Given the description of an element on the screen output the (x, y) to click on. 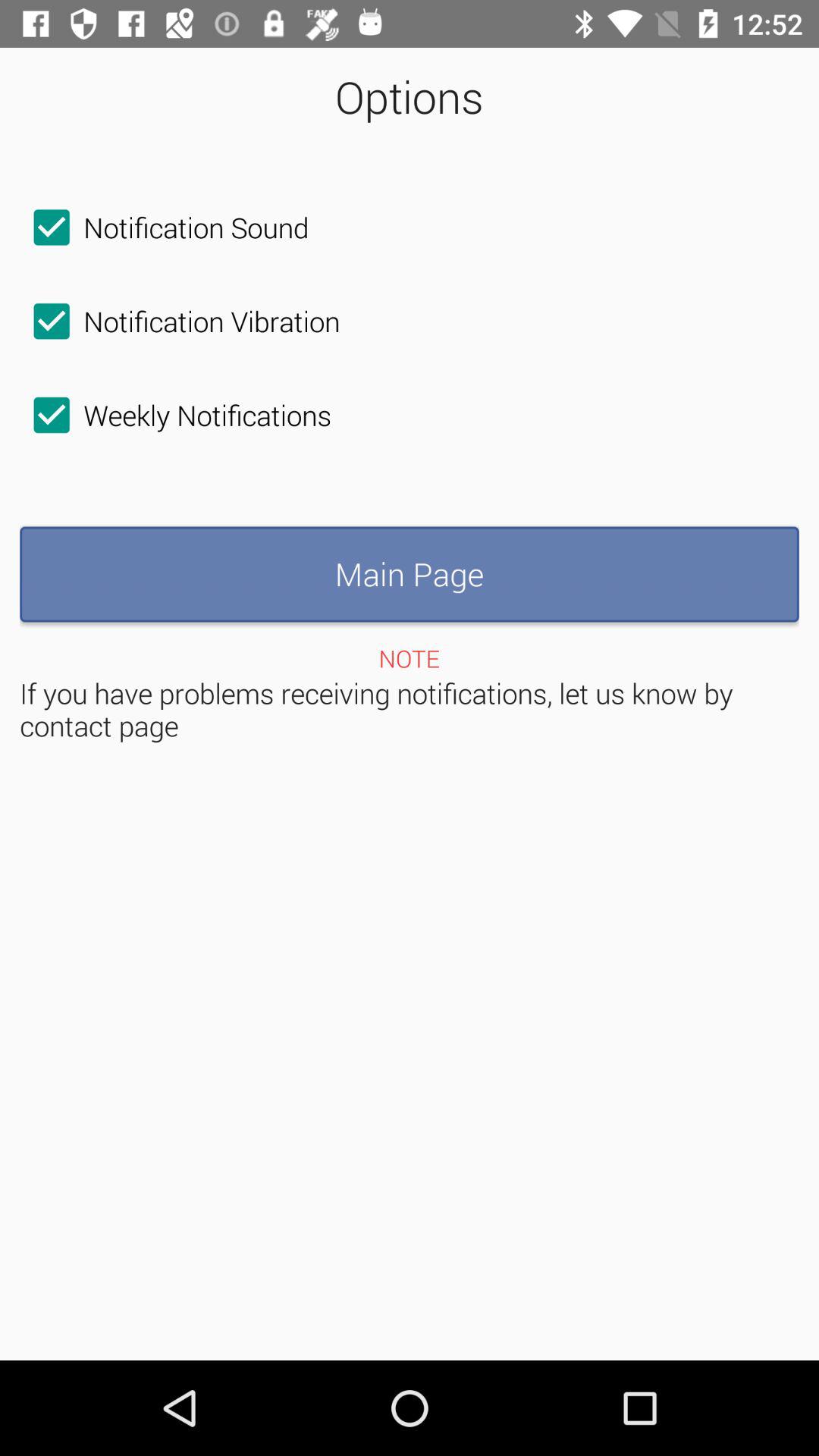
turn on the checkbox below the notification vibration checkbox (175, 415)
